Given the description of an element on the screen output the (x, y) to click on. 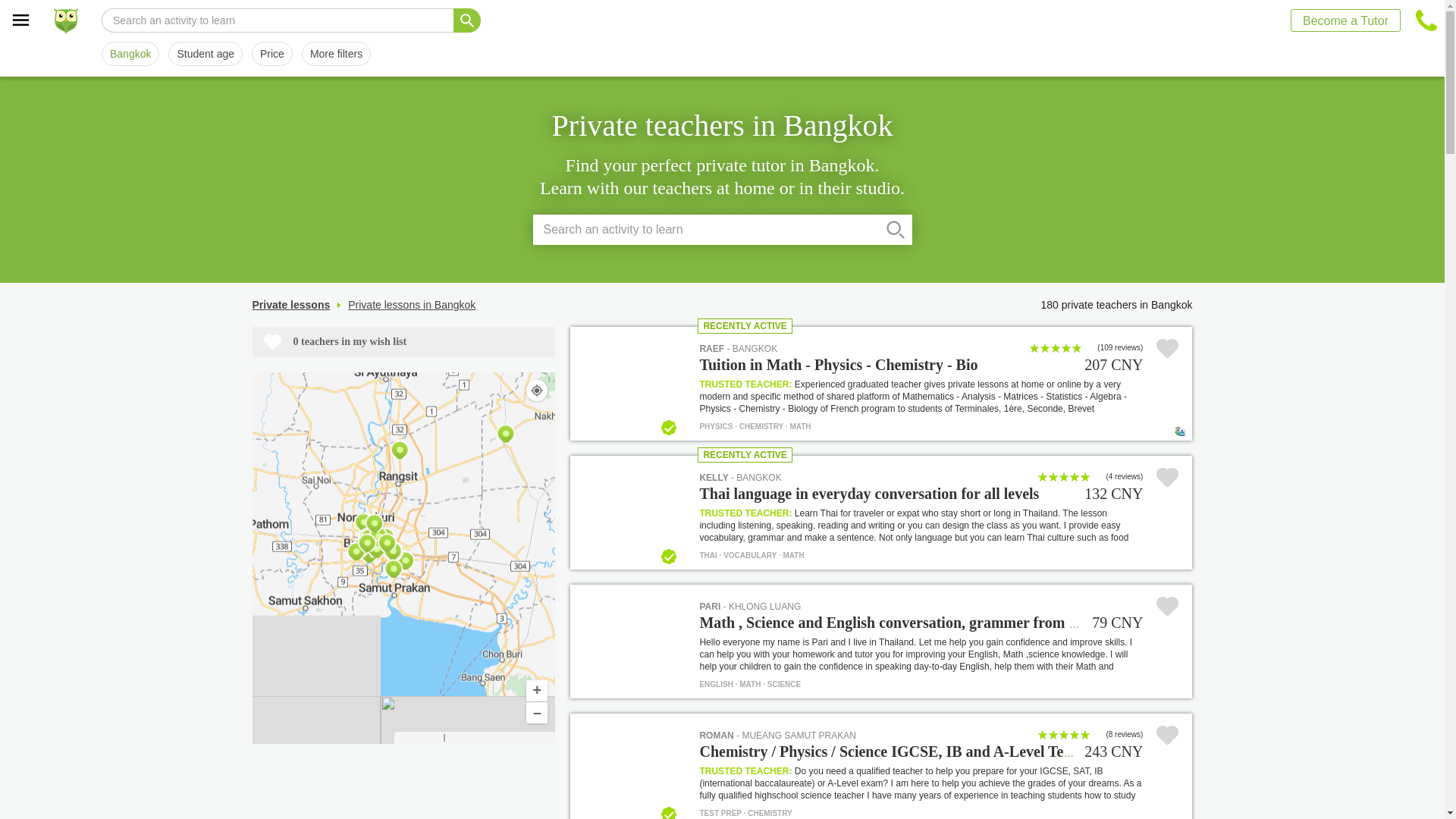
Tuition in Math - Physics - Chemistry - Bio (887, 365)
Thai language in everyday conversation for all levels (739, 477)
Private lessons (887, 494)
PARI - KHLONG LUANG (290, 304)
Bangkok (749, 606)
Student age (129, 53)
Become a Tutor (205, 53)
